Given the description of an element on the screen output the (x, y) to click on. 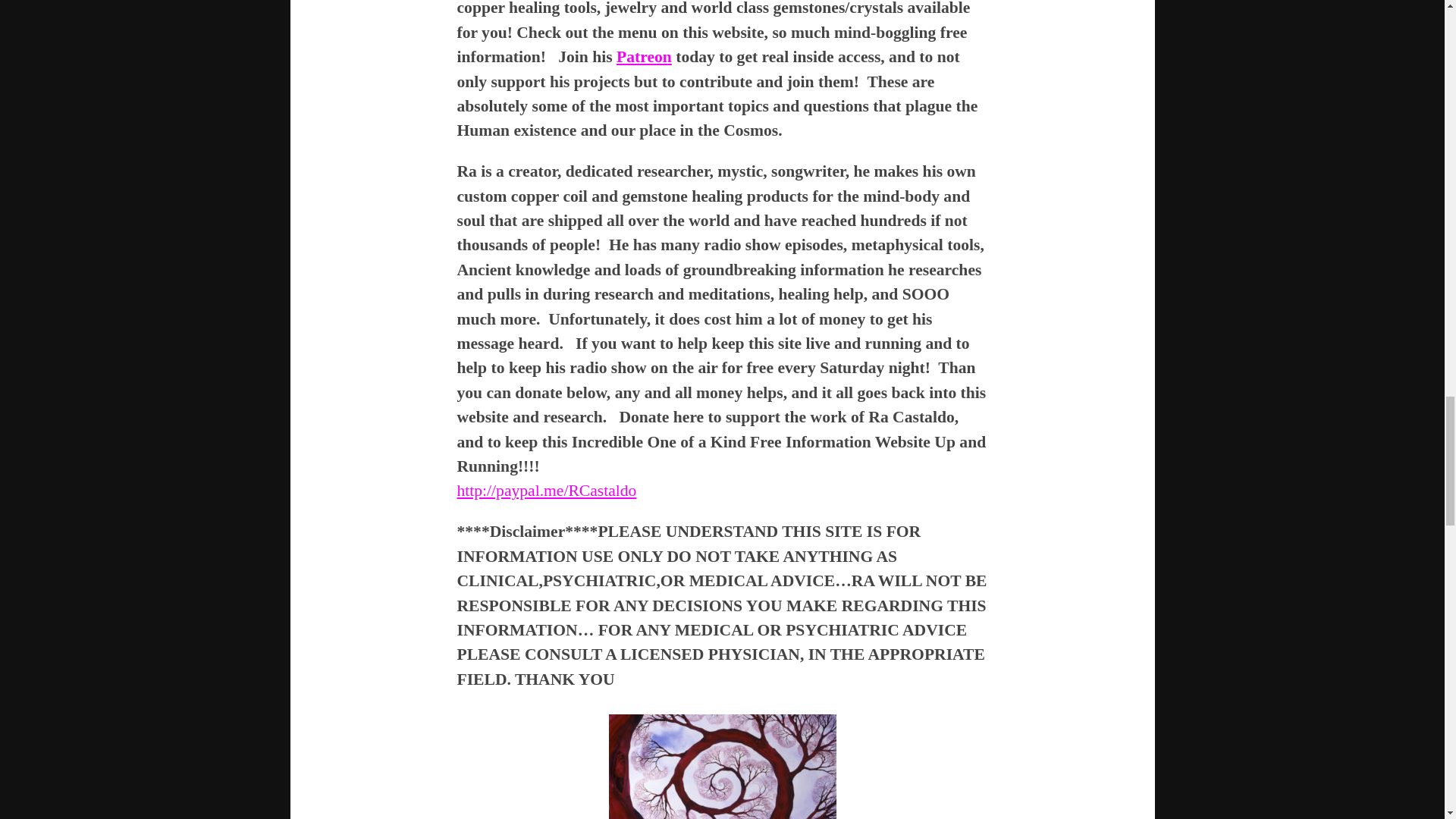
Patreon (643, 56)
